Given the description of an element on the screen output the (x, y) to click on. 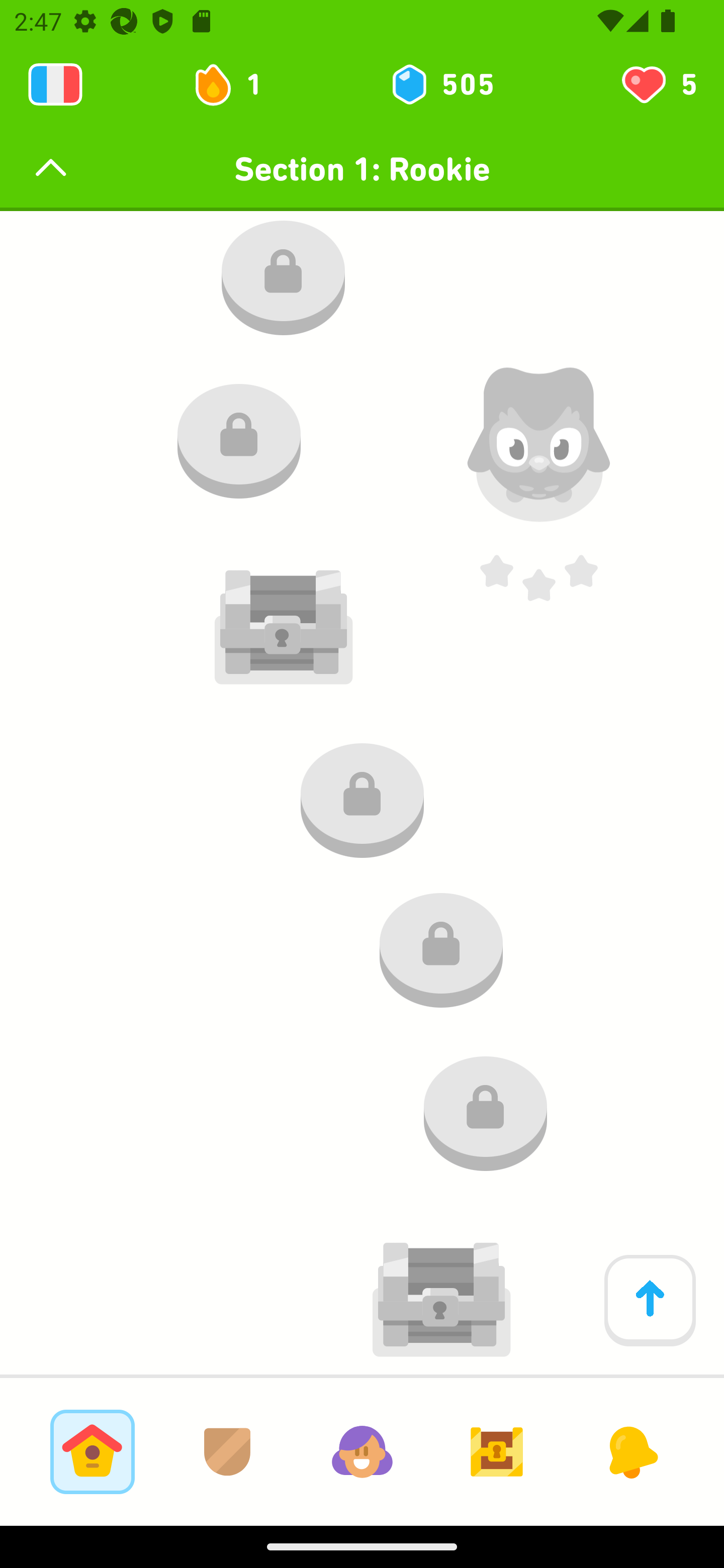
Learning 2131888976 (55, 84)
1 day streak 1 (236, 84)
505 (441, 84)
You have 5 hearts left 5 (657, 84)
Section 1: Rookie (362, 169)
Learn Tab (91, 1451)
Leagues Tab (227, 1451)
Profile Tab (361, 1451)
Goals Tab (496, 1451)
News Tab (631, 1451)
